Given the description of an element on the screen output the (x, y) to click on. 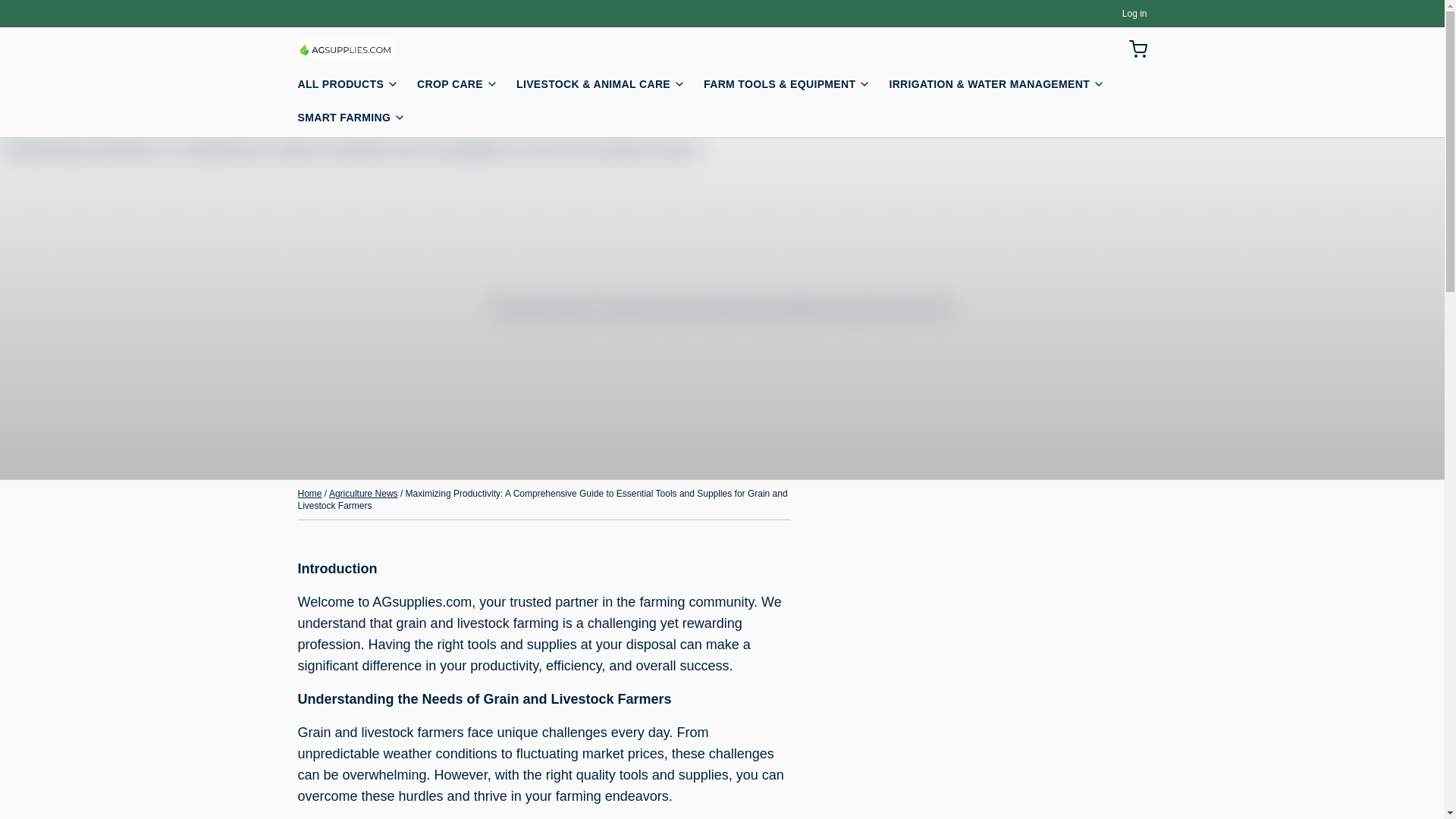
Log in (1134, 13)
CROP CARE (463, 87)
ALL PRODUCTS (353, 87)
Cart (1131, 48)
AGsupplies.com (345, 48)
